Given the description of an element on the screen output the (x, y) to click on. 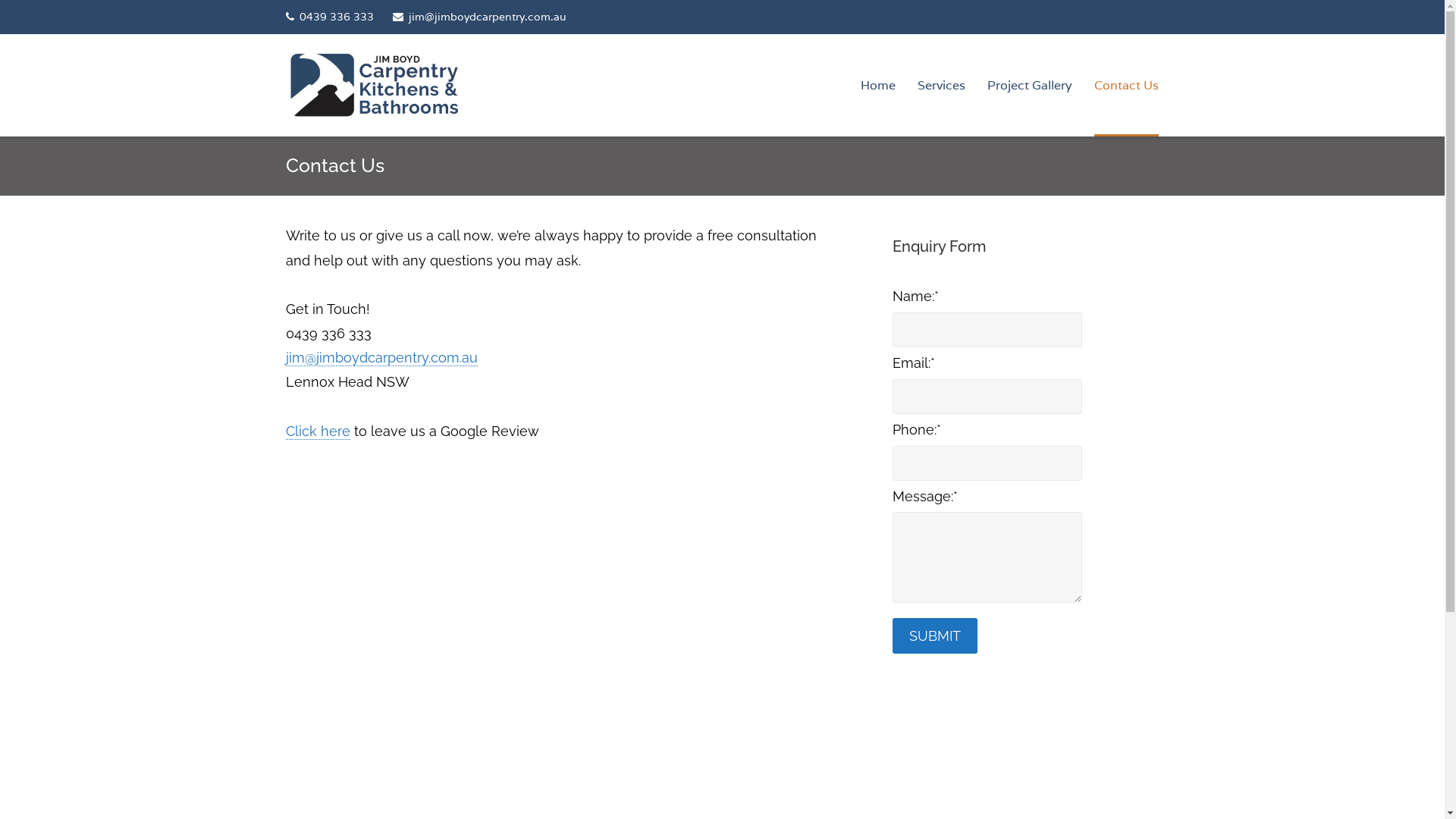
jim@jimboydcarpentry.com.au Element type: text (479, 17)
Home Element type: text (877, 85)
0439 336 333 Element type: text (329, 17)
Submit Element type: text (934, 635)
Services Element type: text (941, 85)
jim@jimboydcarpentry.com.au Element type: text (381, 357)
Click here Element type: text (317, 431)
Project Gallery Element type: text (1029, 85)
Skip to content Element type: text (0, 0)
Contact Us Element type: text (1126, 85)
